Given the description of an element on the screen output the (x, y) to click on. 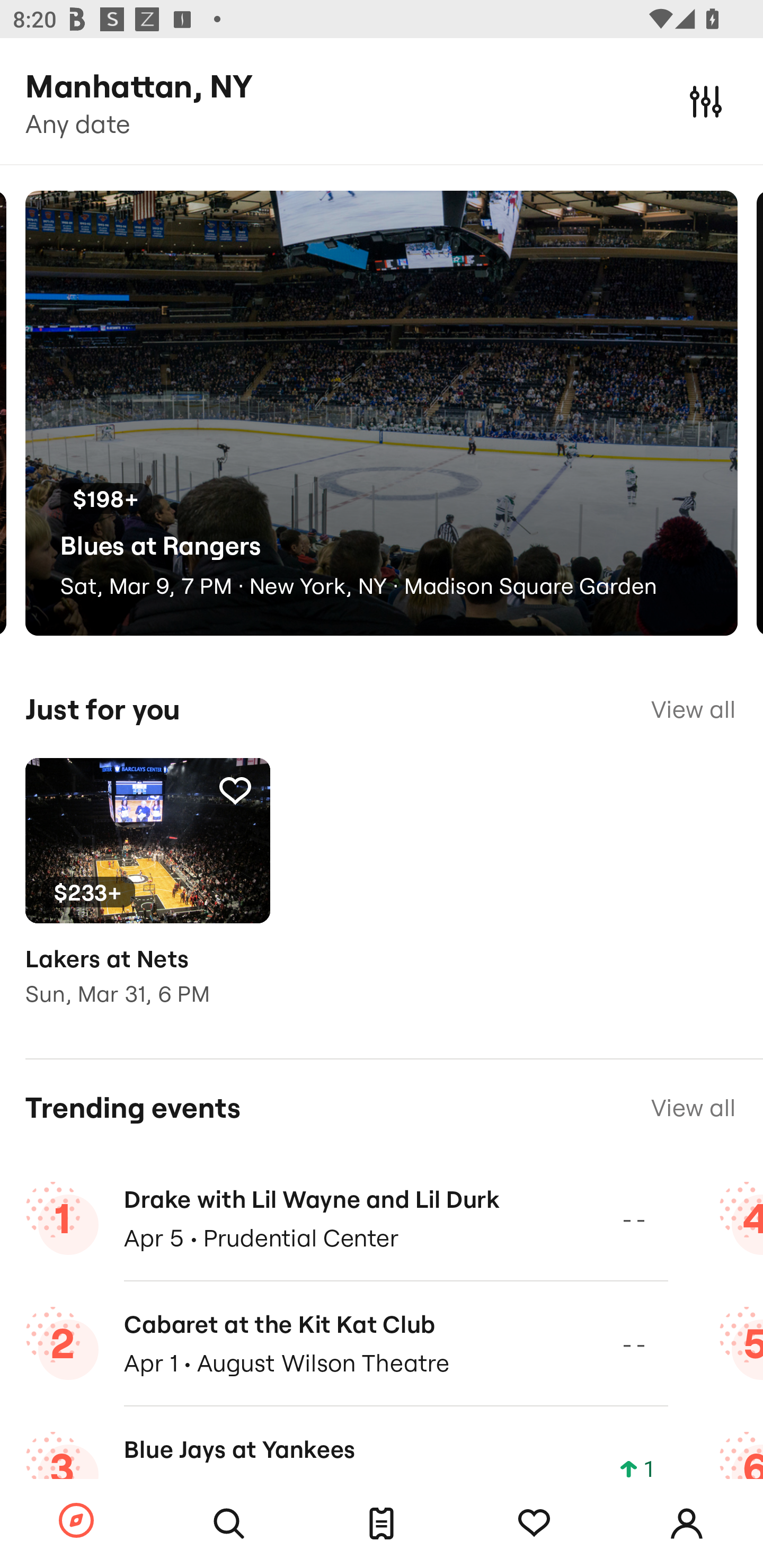
Filters (705, 100)
View all (693, 709)
Tracking $233+ Lakers at Nets Sun, Mar 31, 6 PM (147, 895)
Tracking (234, 790)
View all (693, 1108)
Browse (76, 1521)
Search (228, 1523)
Tickets (381, 1523)
Tracking (533, 1523)
Account (686, 1523)
